Given the description of an element on the screen output the (x, y) to click on. 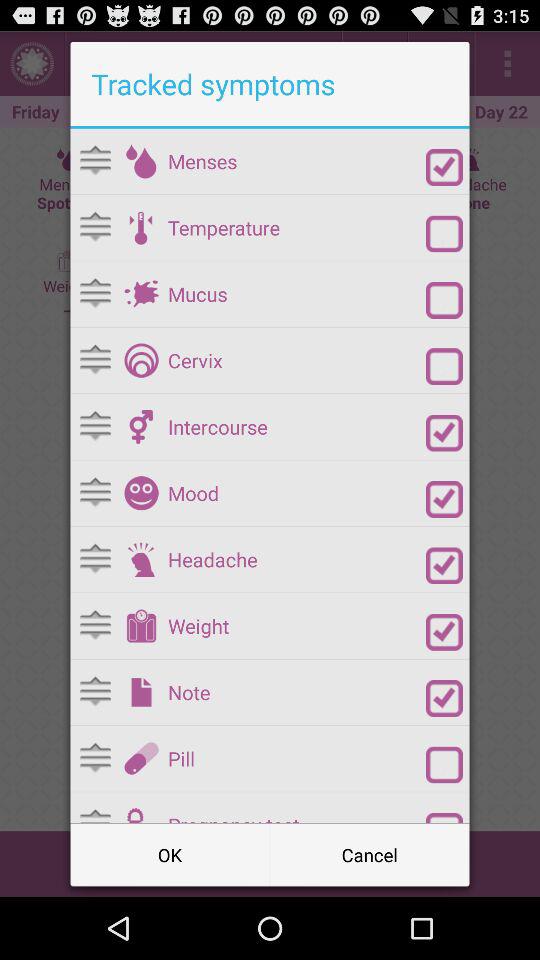
go to selcet (444, 167)
